Given the description of an element on the screen output the (x, y) to click on. 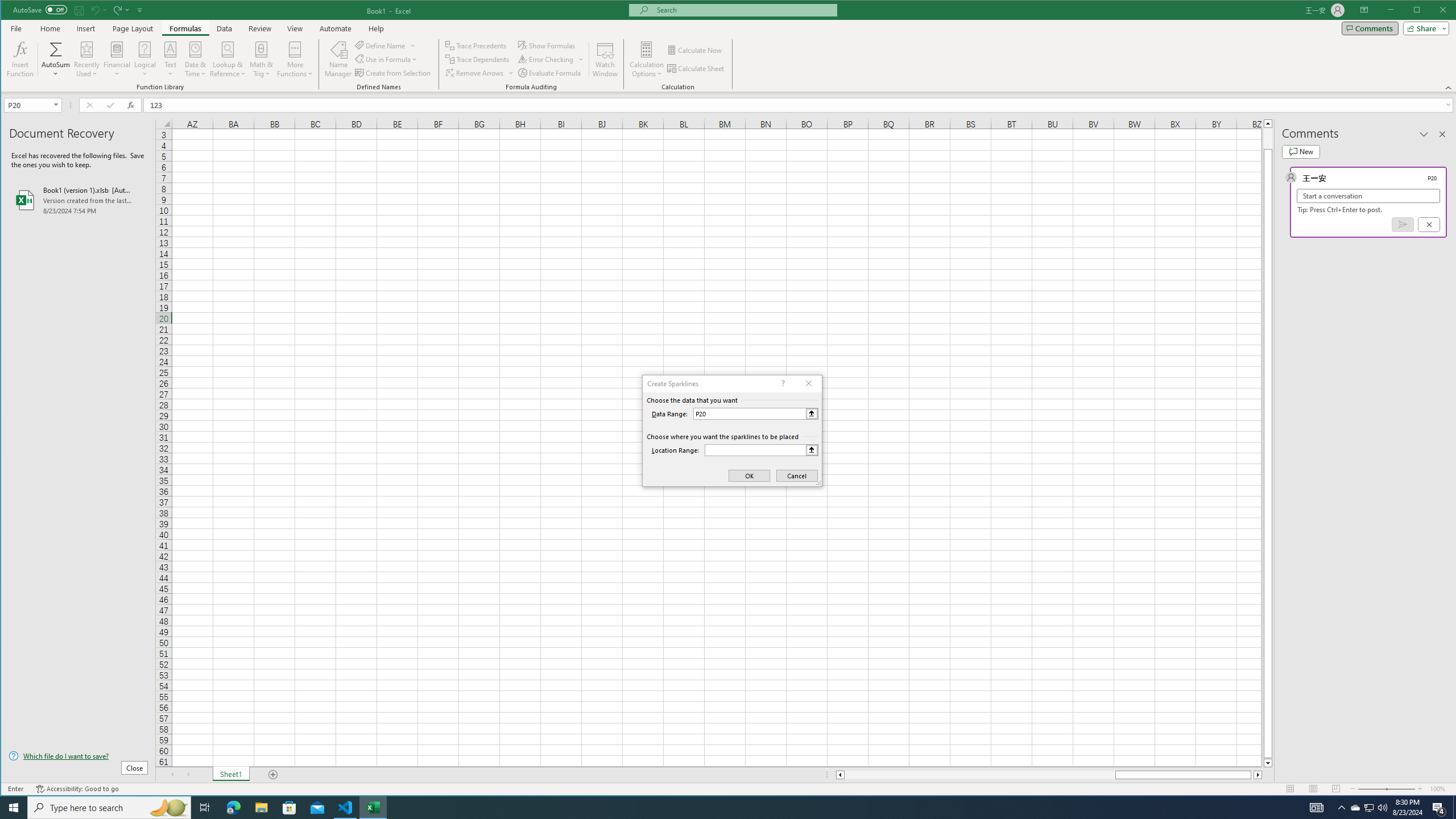
Trace Precedents (476, 45)
Sum (55, 48)
Date & Time (195, 59)
Evaluate Formula (550, 72)
Start a conversation (1368, 195)
Calculate Sheet (696, 68)
